Given the description of an element on the screen output the (x, y) to click on. 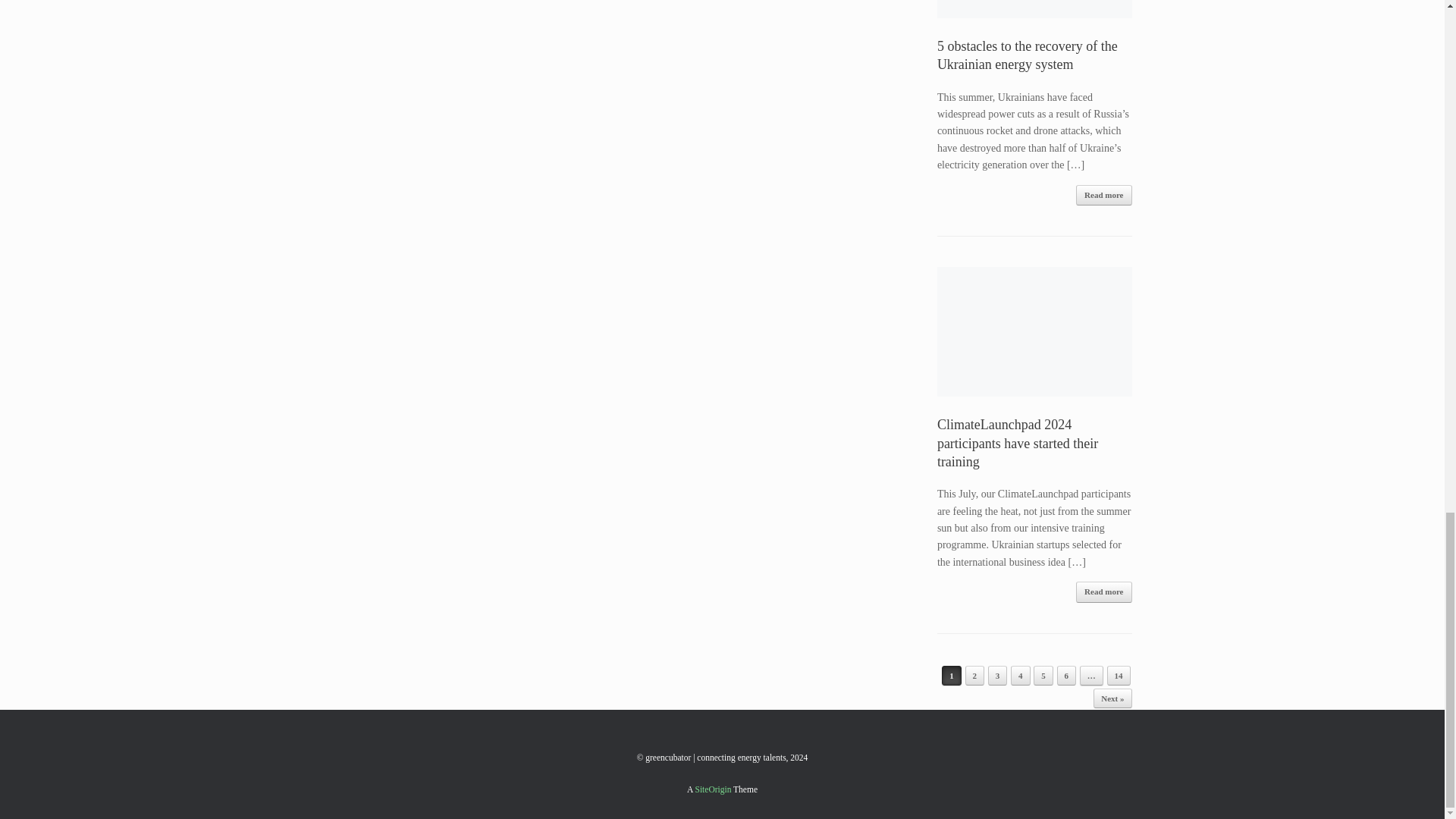
Read more (1103, 591)
5 obstacles to the recovery of the Ukrainian energy system (1027, 55)
2 (973, 675)
3 (997, 675)
Read more (1103, 195)
